Given the description of an element on the screen output the (x, y) to click on. 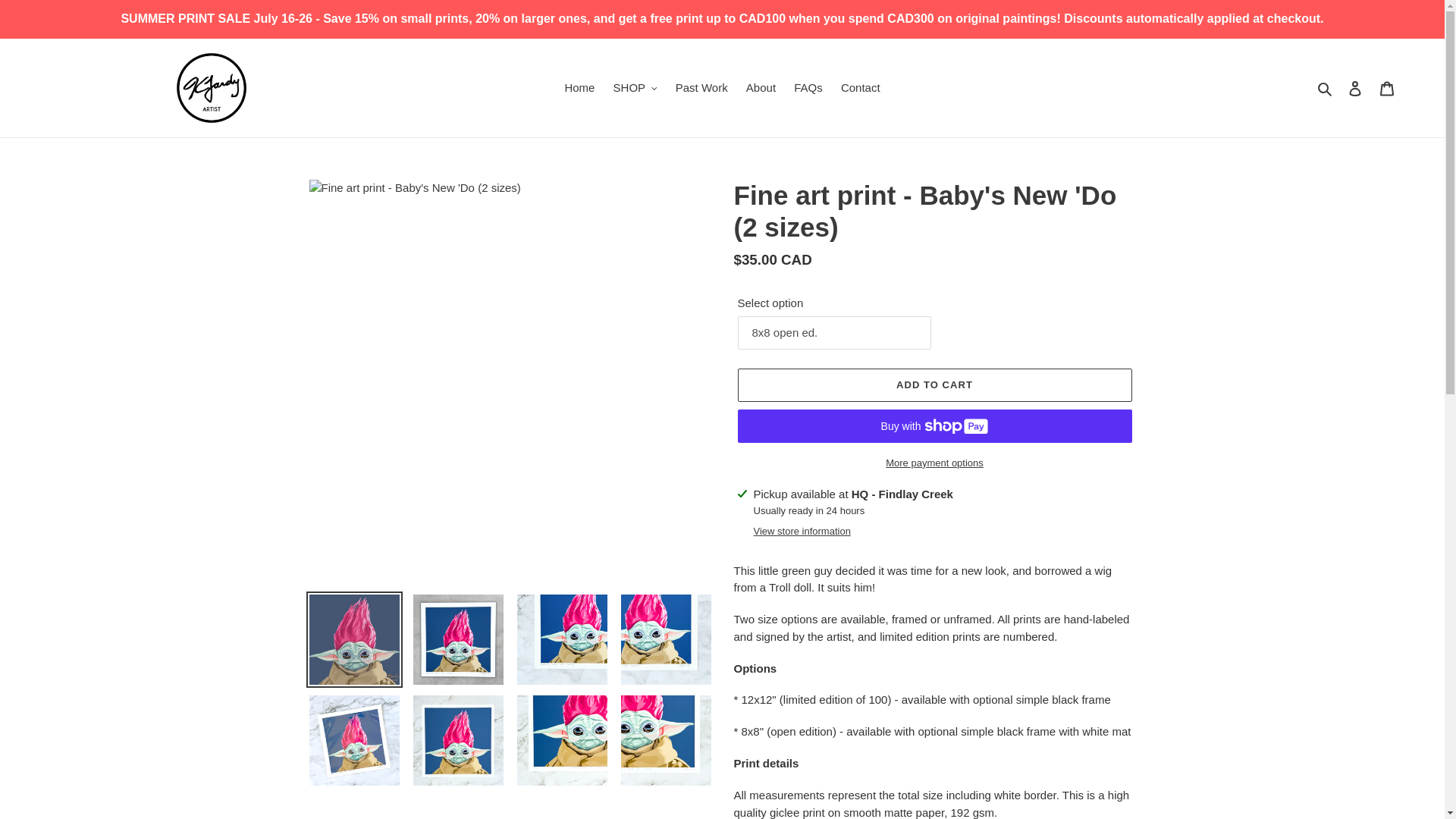
Cart (1387, 88)
Log in (1355, 88)
SHOP (635, 87)
FAQs (807, 87)
Search (1326, 87)
Past Work (701, 87)
Home (579, 87)
Contact (860, 87)
About (760, 87)
